Given the description of an element on the screen output the (x, y) to click on. 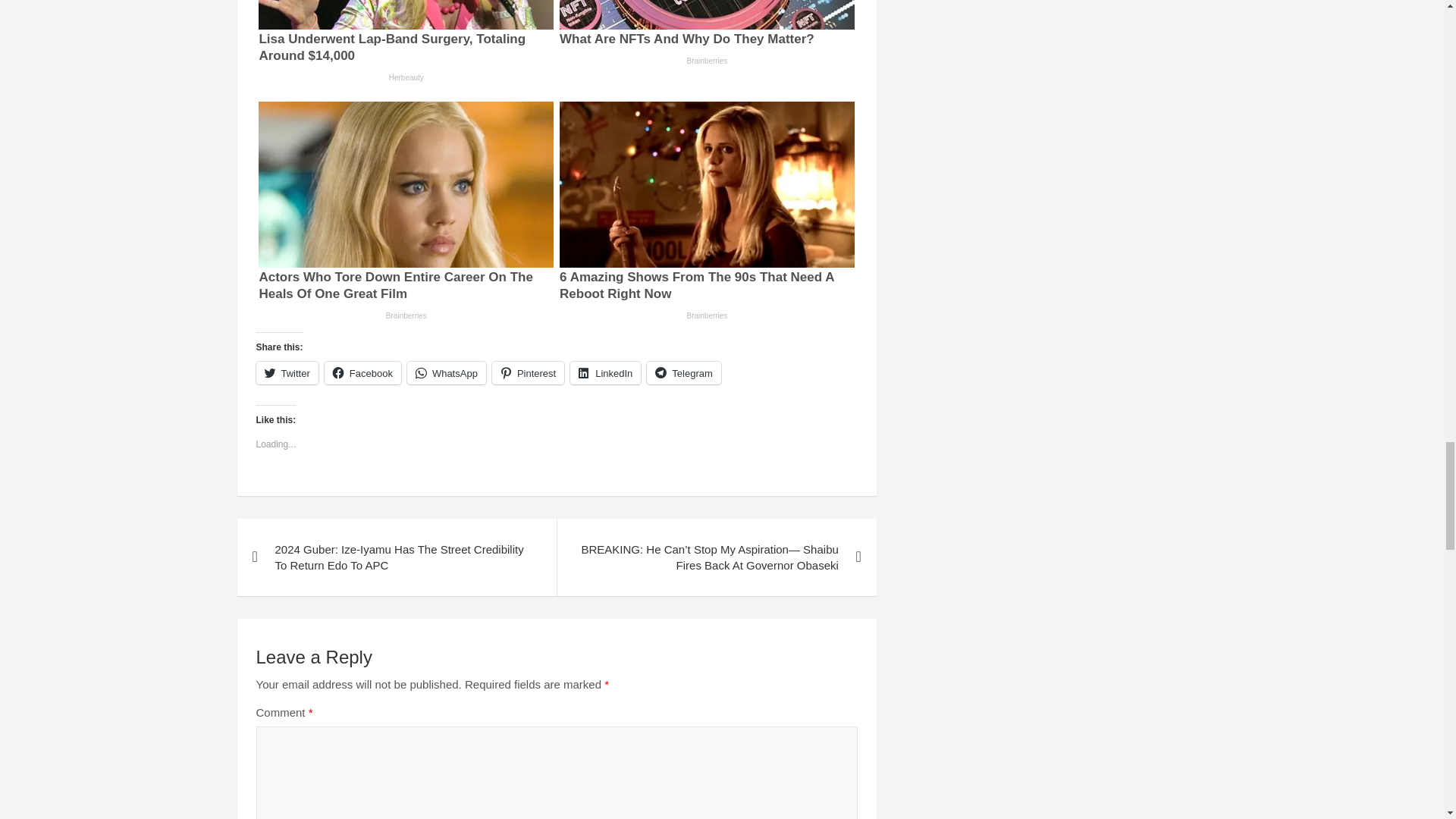
Herbeauty (406, 76)
Click to share on LinkedIn (605, 372)
Click to share on Facebook (362, 372)
Click to share on Pinterest (528, 372)
Click to share on Twitter (287, 372)
Click to share on WhatsApp (446, 372)
Click to share on Telegram (683, 372)
